Given the description of an element on the screen output the (x, y) to click on. 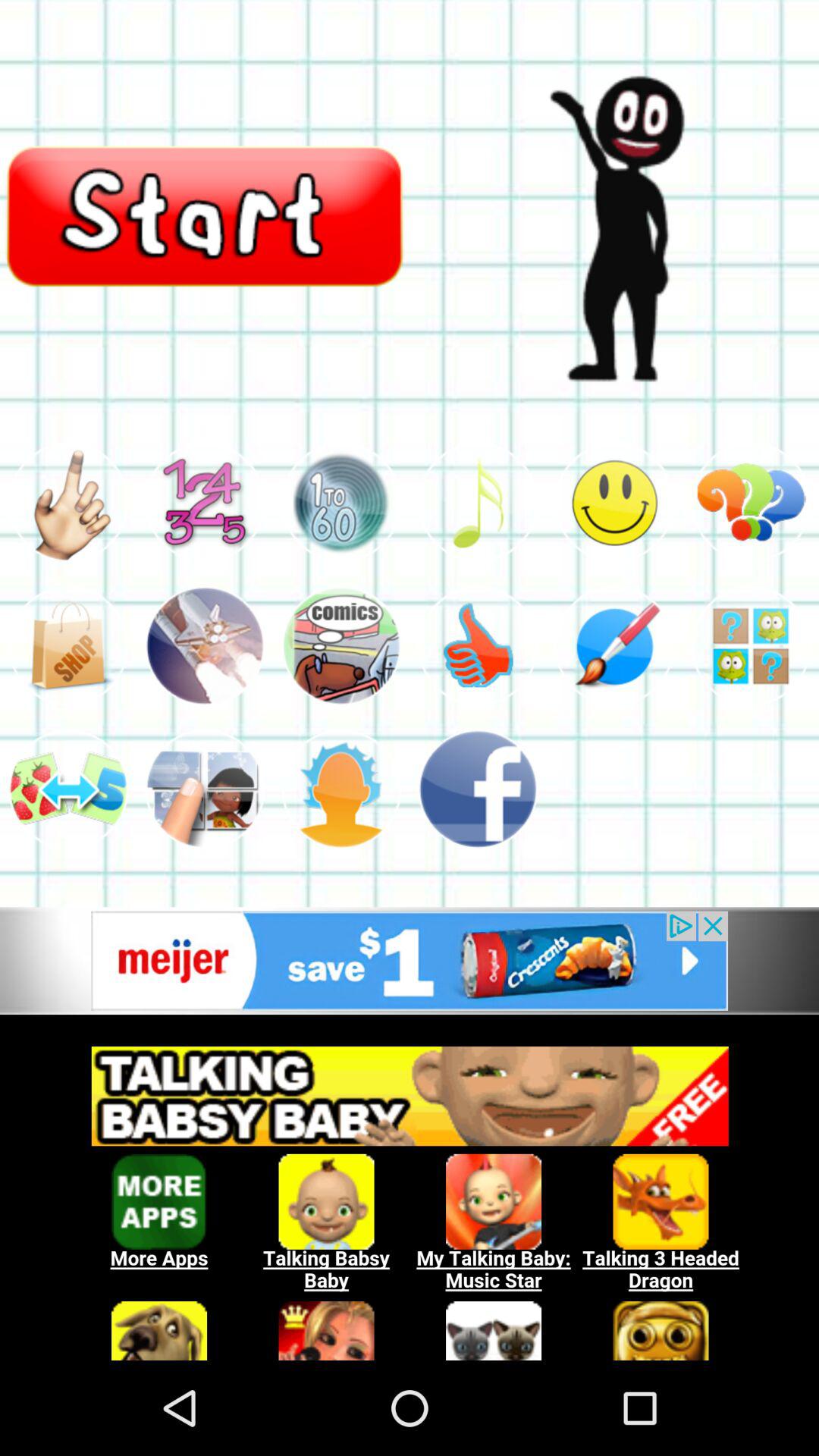
go to music (477, 502)
